Given the description of an element on the screen output the (x, y) to click on. 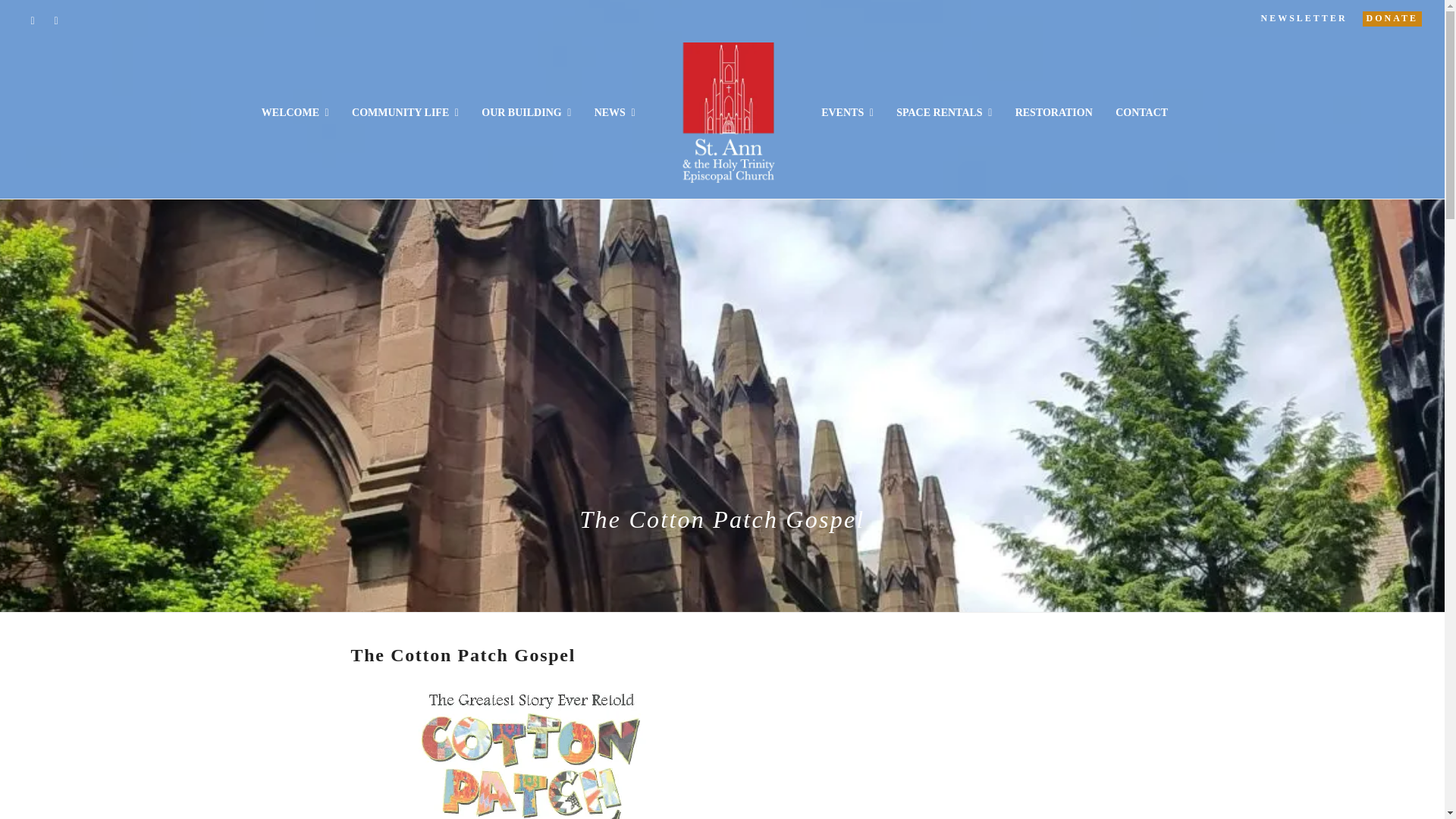
EVENTS (847, 112)
WELCOME (295, 112)
OUR BUILDING (526, 112)
The Cotton Patch Gospel (526, 751)
NEWS (614, 112)
CONTACT (1141, 112)
SPACE RENTALS (944, 112)
Facebook (55, 21)
DONATE (1392, 18)
COMMUNITY LIFE (405, 112)
RESTORATION (1053, 112)
Instagram (32, 21)
NEWSLETTER (1304, 18)
